Given the description of an element on the screen output the (x, y) to click on. 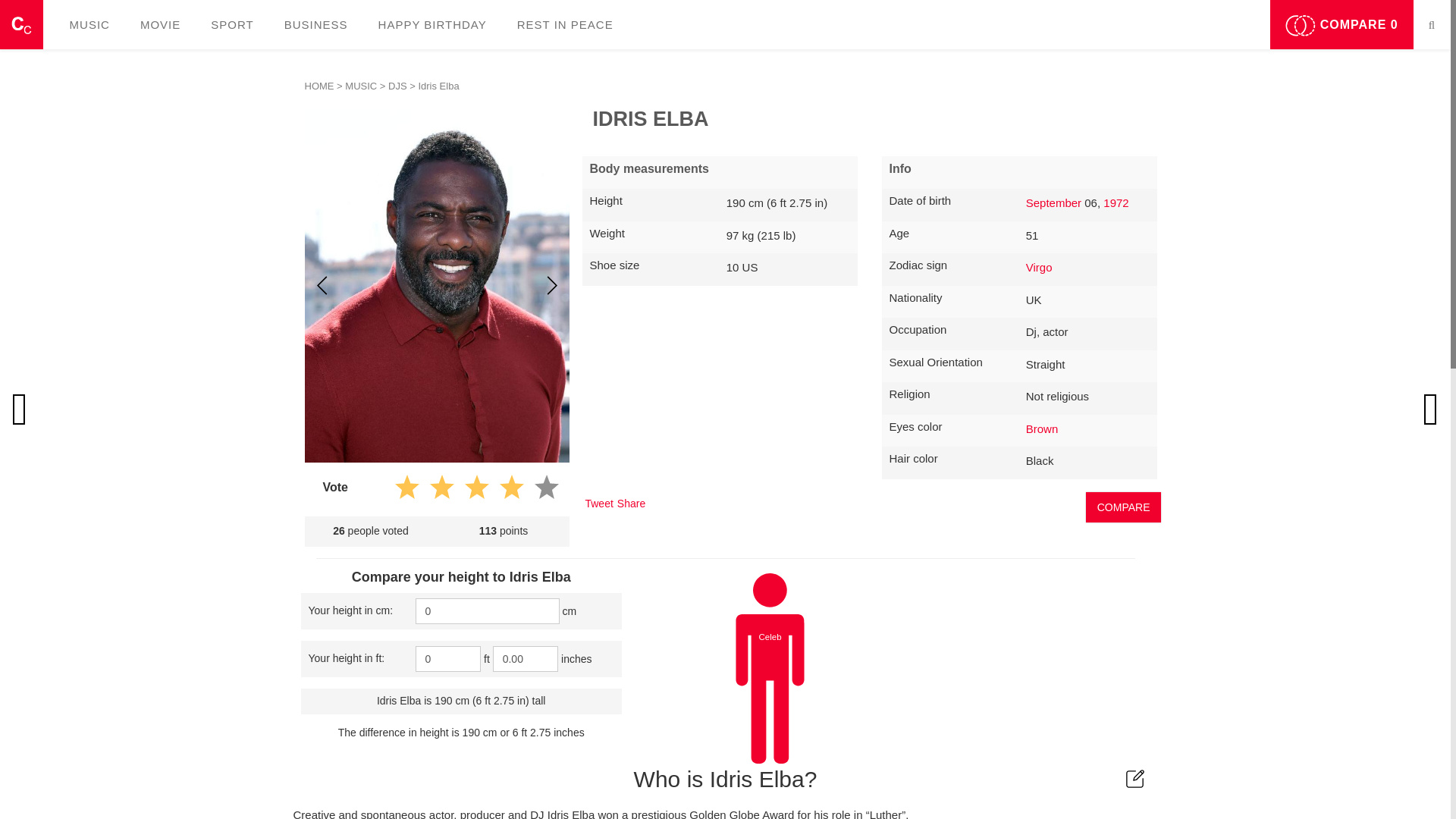
0 (447, 658)
Add to compare (1123, 507)
Send Suggestion (1135, 778)
Share (631, 503)
SPORT (231, 24)
1972 (1115, 202)
DJS (397, 85)
HAPPY BIRTHDAY (432, 24)
MUSIC (361, 85)
MUSIC (90, 24)
Virgo (1039, 267)
HOME (319, 85)
Tweet (598, 503)
Brown (1042, 428)
MOVIE (160, 24)
